Given the description of an element on the screen output the (x, y) to click on. 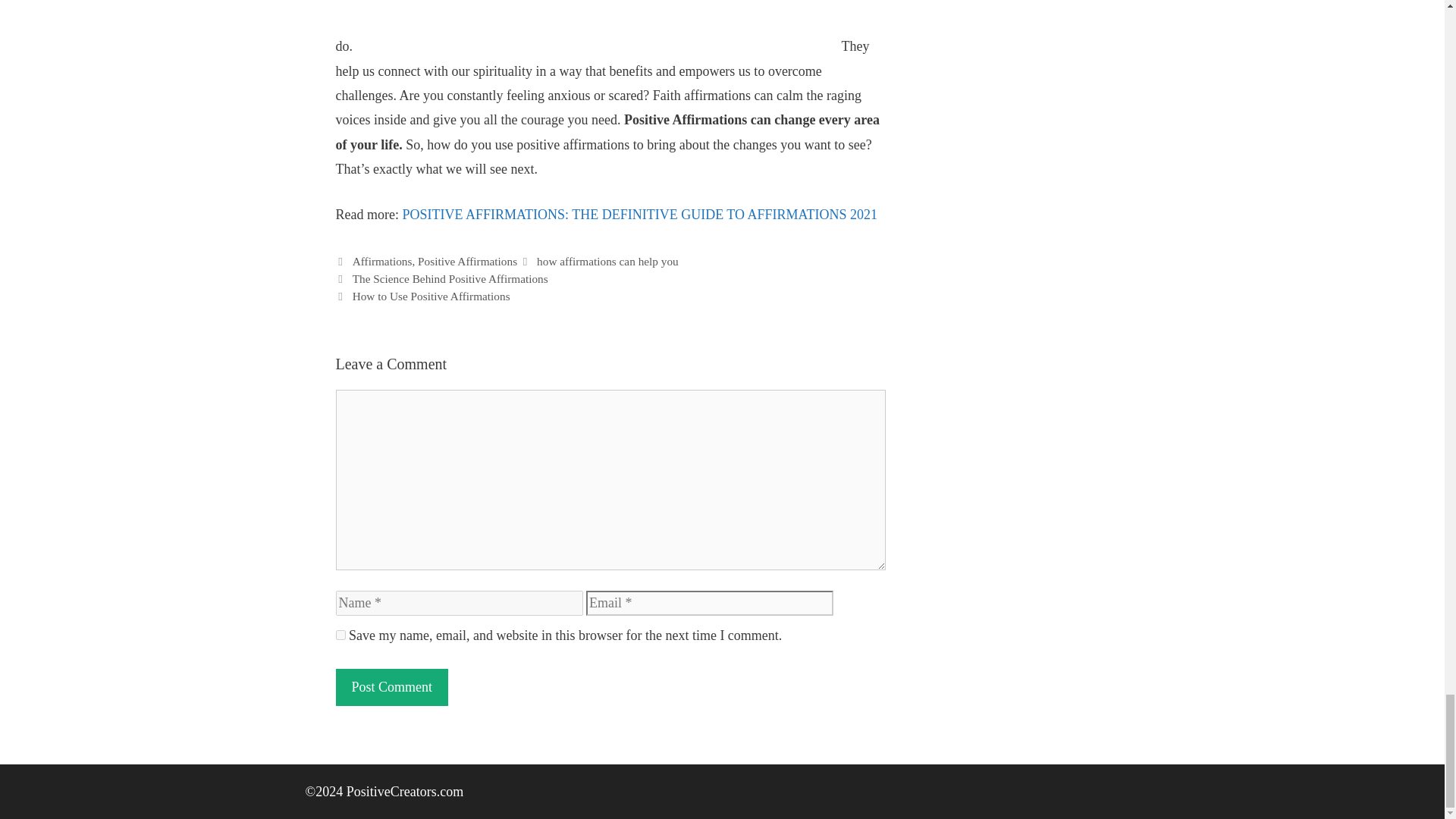
how affirmations can help you (607, 260)
Post Comment (391, 687)
Positive Affirmations (466, 260)
Affirmations (382, 260)
The Science Behind Positive Affirmations (450, 278)
How to Use Positive Affirmations (431, 295)
Post Comment (391, 687)
yes (339, 634)
